Given the description of an element on the screen output the (x, y) to click on. 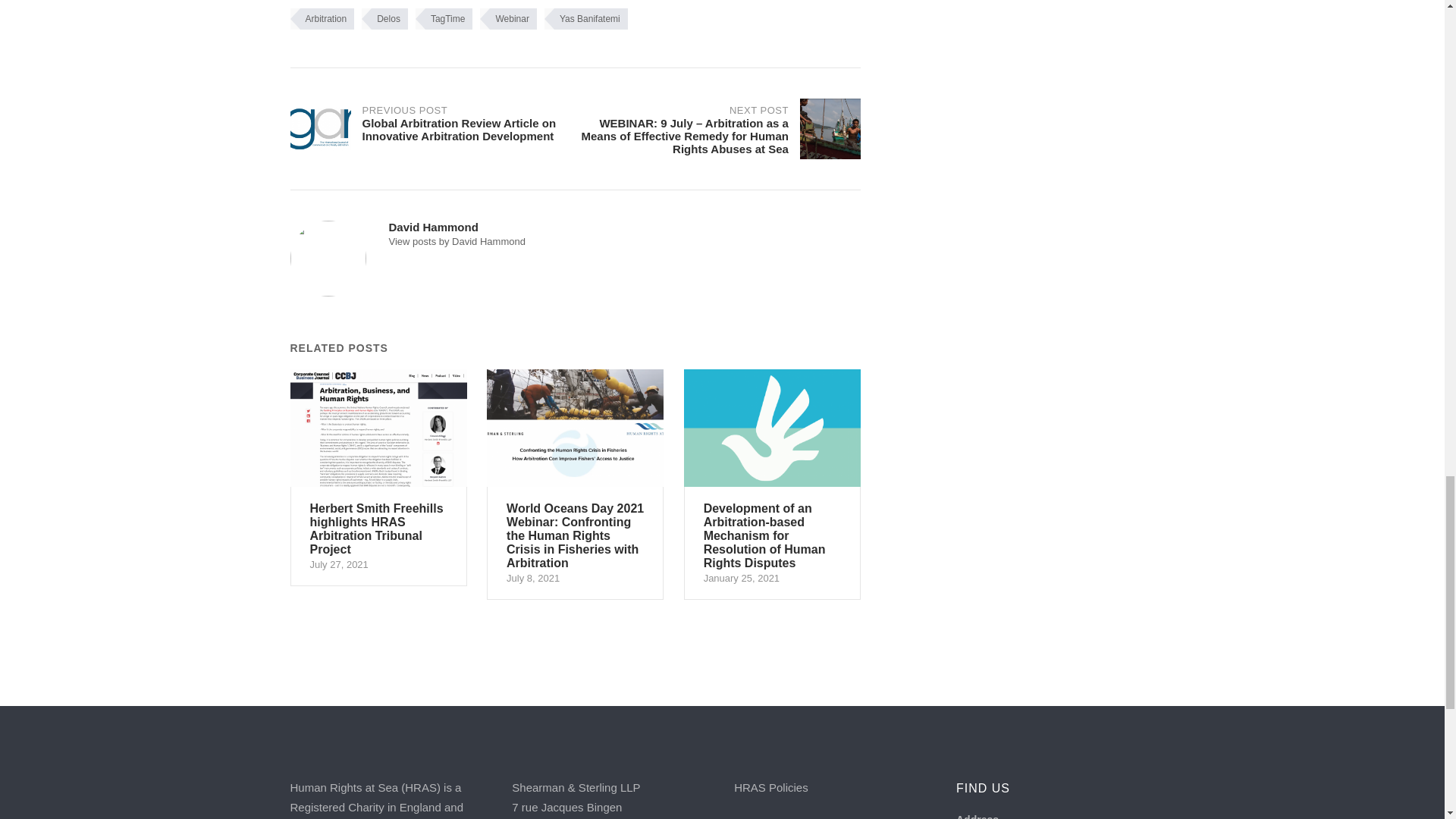
Delos (384, 18)
Arbitration (321, 18)
Webinar (507, 18)
View posts by David Hammond (456, 241)
Yas Banifatemi (585, 18)
TagTime (443, 18)
